Given the description of an element on the screen output the (x, y) to click on. 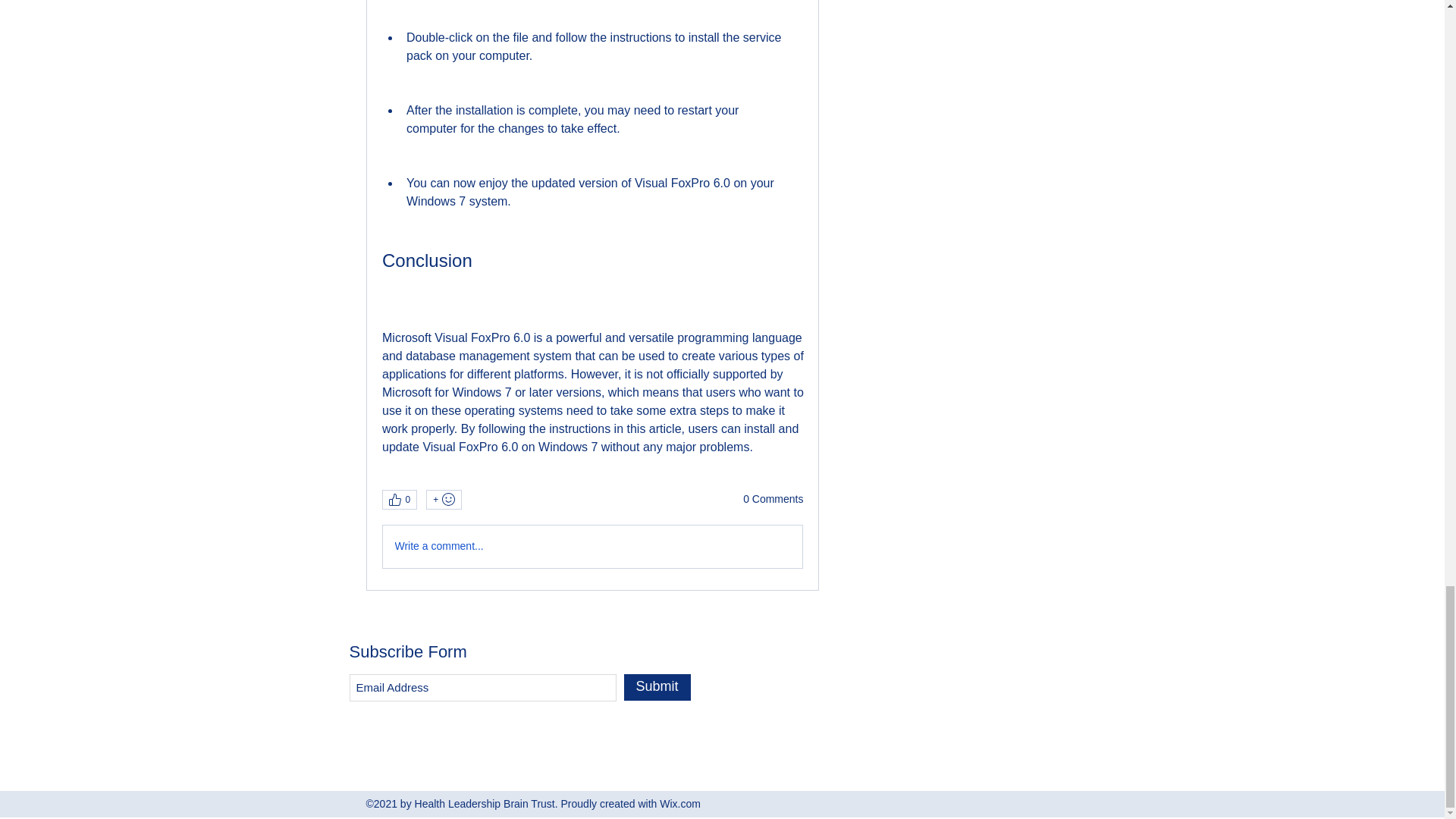
Write a comment... (591, 546)
0 Comments (772, 499)
Submit (656, 687)
